Given the description of an element on the screen output the (x, y) to click on. 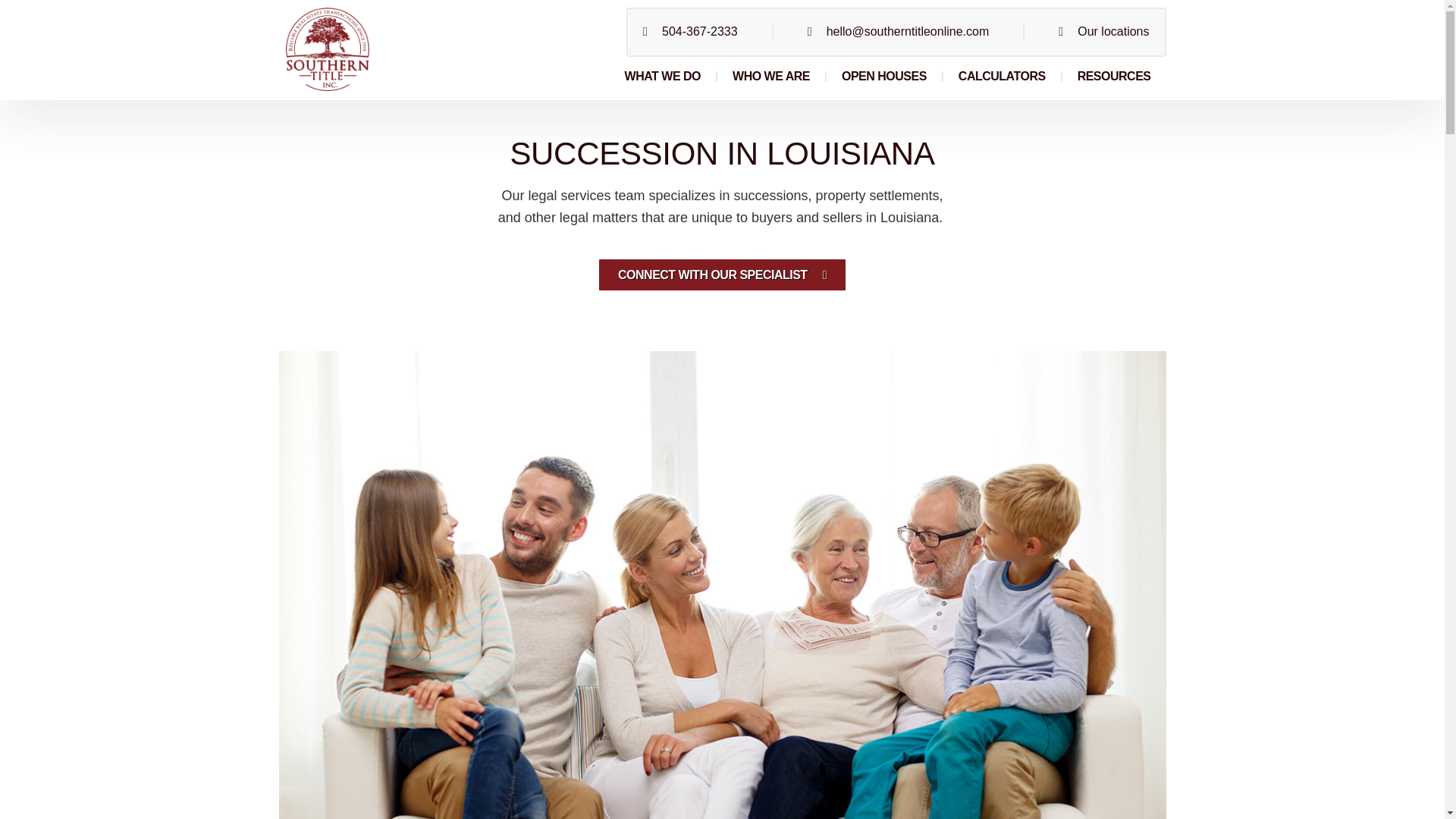
WHAT WE DO (663, 76)
Our locations (1103, 32)
RESOURCES (1114, 76)
504-367-2333 (690, 32)
WHO WE ARE (771, 76)
CALCULATORS (1002, 76)
OPEN HOUSES (884, 76)
